Given the description of an element on the screen output the (x, y) to click on. 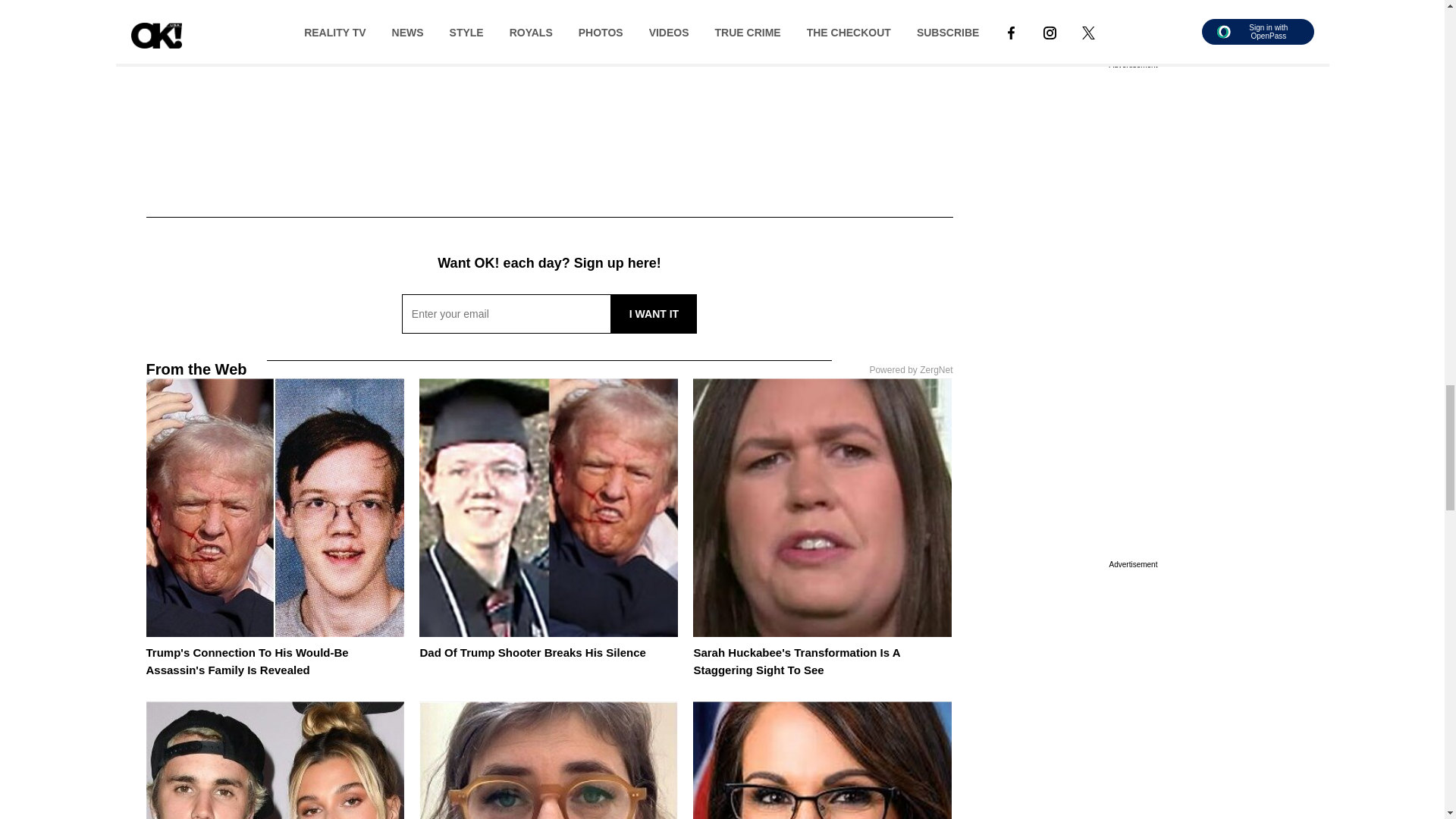
I WANT IT (654, 313)
